Given the description of an element on the screen output the (x, y) to click on. 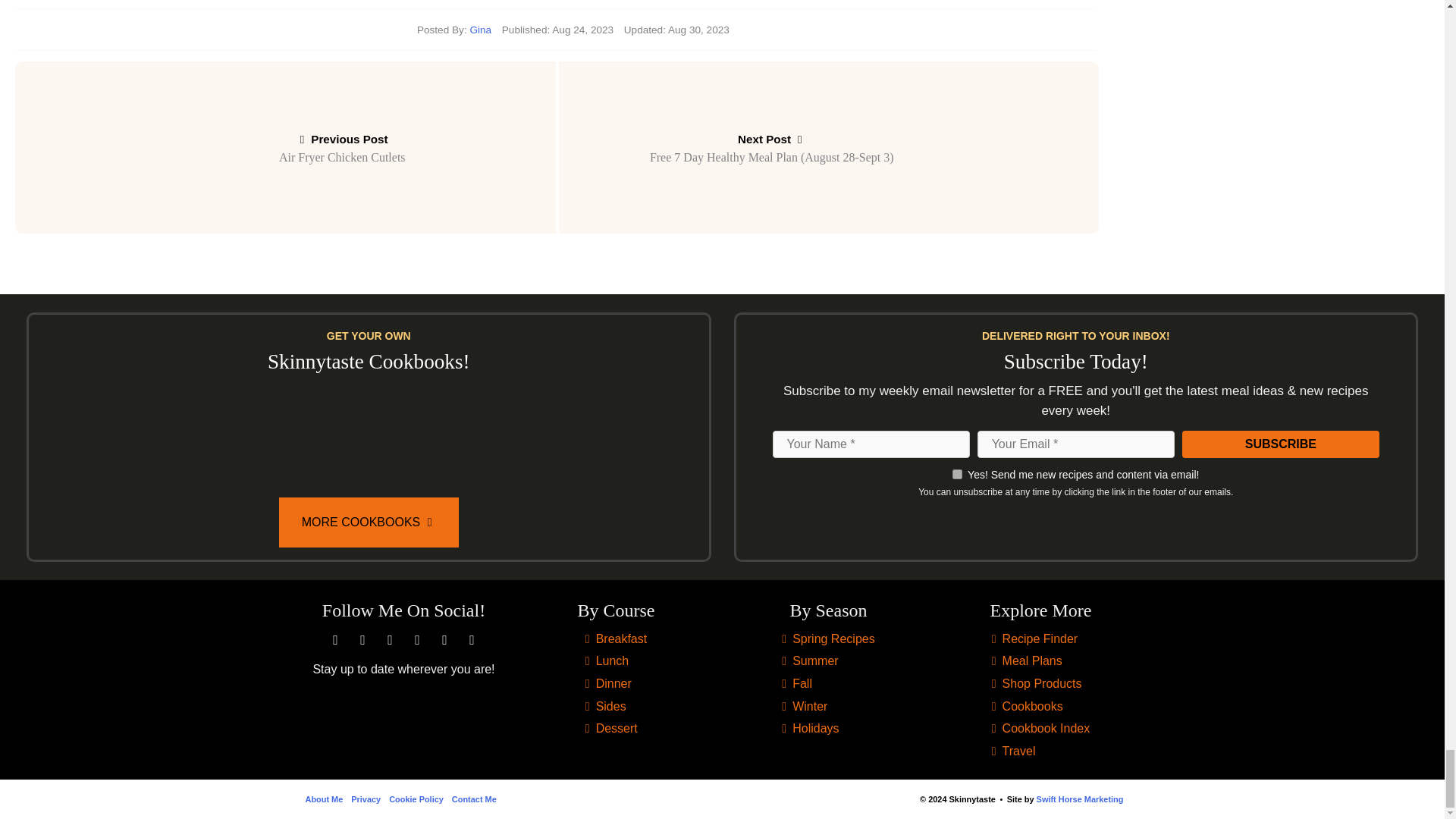
Y (957, 474)
Subscribe (1280, 443)
